Given the description of an element on the screen output the (x, y) to click on. 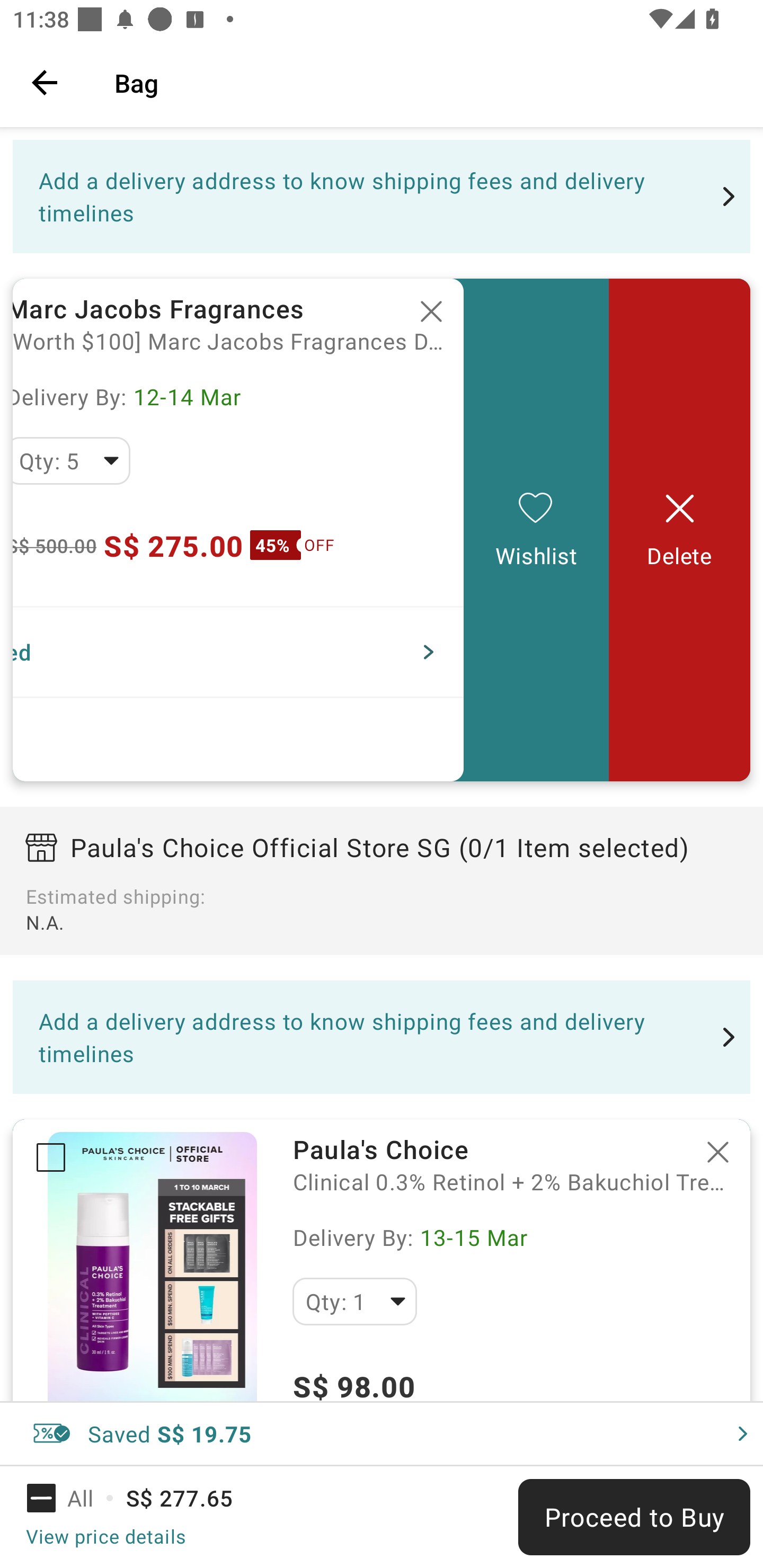
Navigate up (44, 82)
Bag (426, 82)
Wishlist (535, 529)
Qty: 5 (71, 460)
Qty: 1 (354, 1300)
Saved S$ 19.75 (381, 1433)
All (72, 1497)
Proceed to Buy (634, 1516)
View price details (105, 1535)
